Given the description of an element on the screen output the (x, y) to click on. 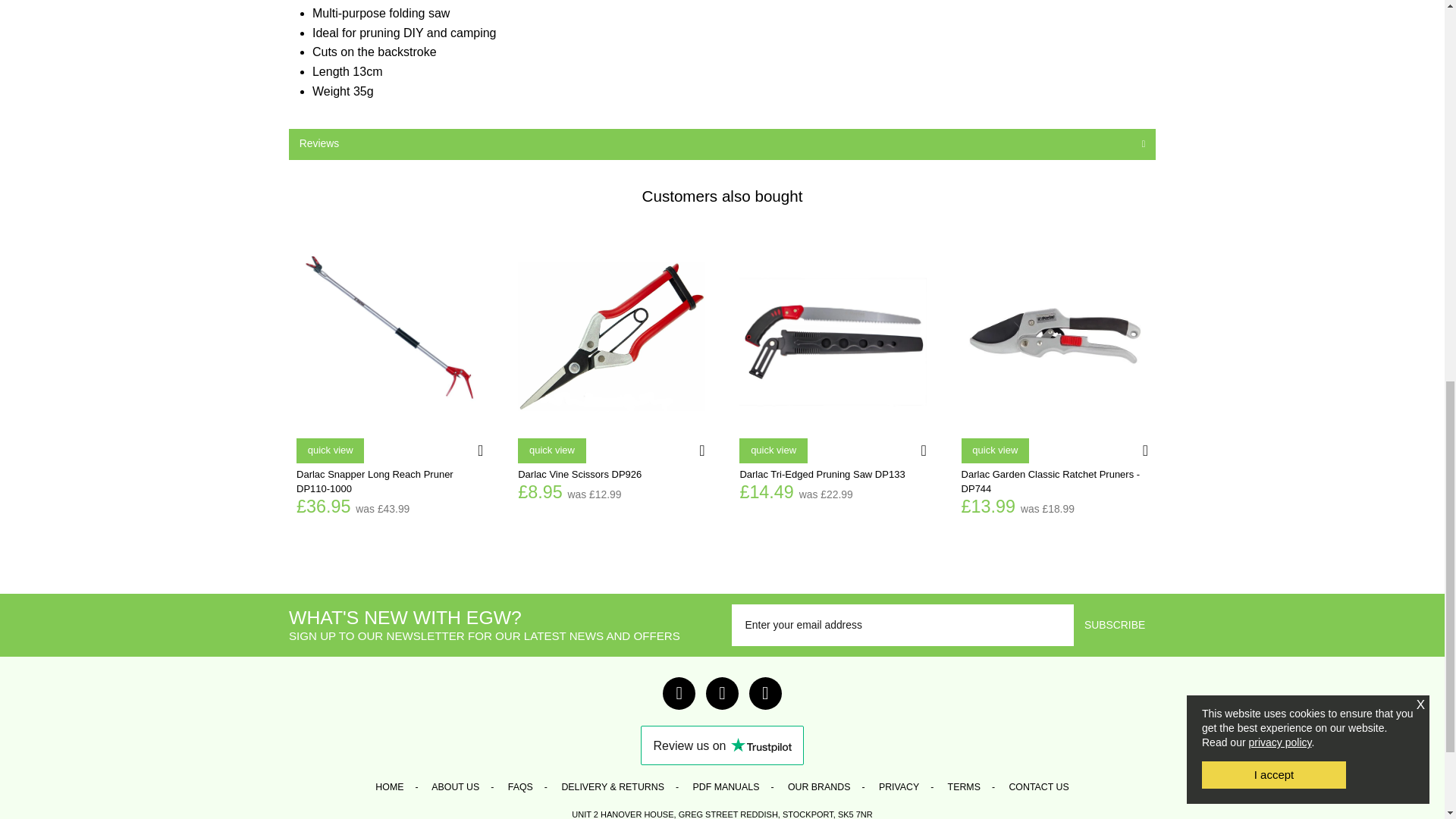
Customer reviews powered by Trustpilot (722, 744)
